Given the description of an element on the screen output the (x, y) to click on. 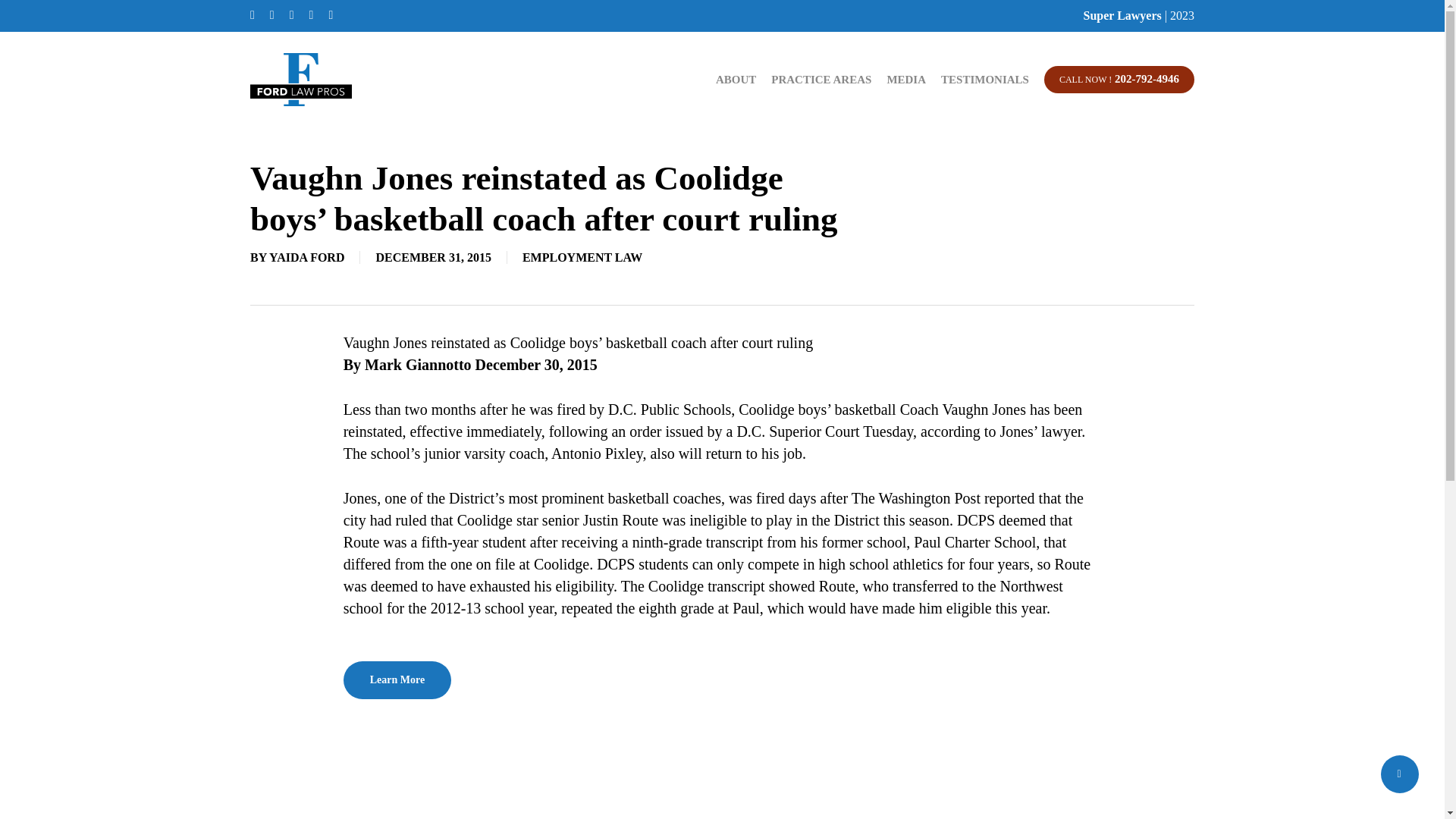
twitter (252, 15)
facebook (272, 15)
ABOUT (734, 79)
email (331, 15)
Posts by Yaida Ford (306, 256)
TESTIMONIALS (984, 79)
YAIDA FORD (306, 256)
CALL NOW ! 202-792-4946 (1118, 79)
EMPLOYMENT LAW (582, 256)
PRACTICE AREAS (820, 79)
Learn More (397, 679)
youtube (311, 15)
MEDIA (906, 79)
linkedin (291, 15)
